Given the description of an element on the screen output the (x, y) to click on. 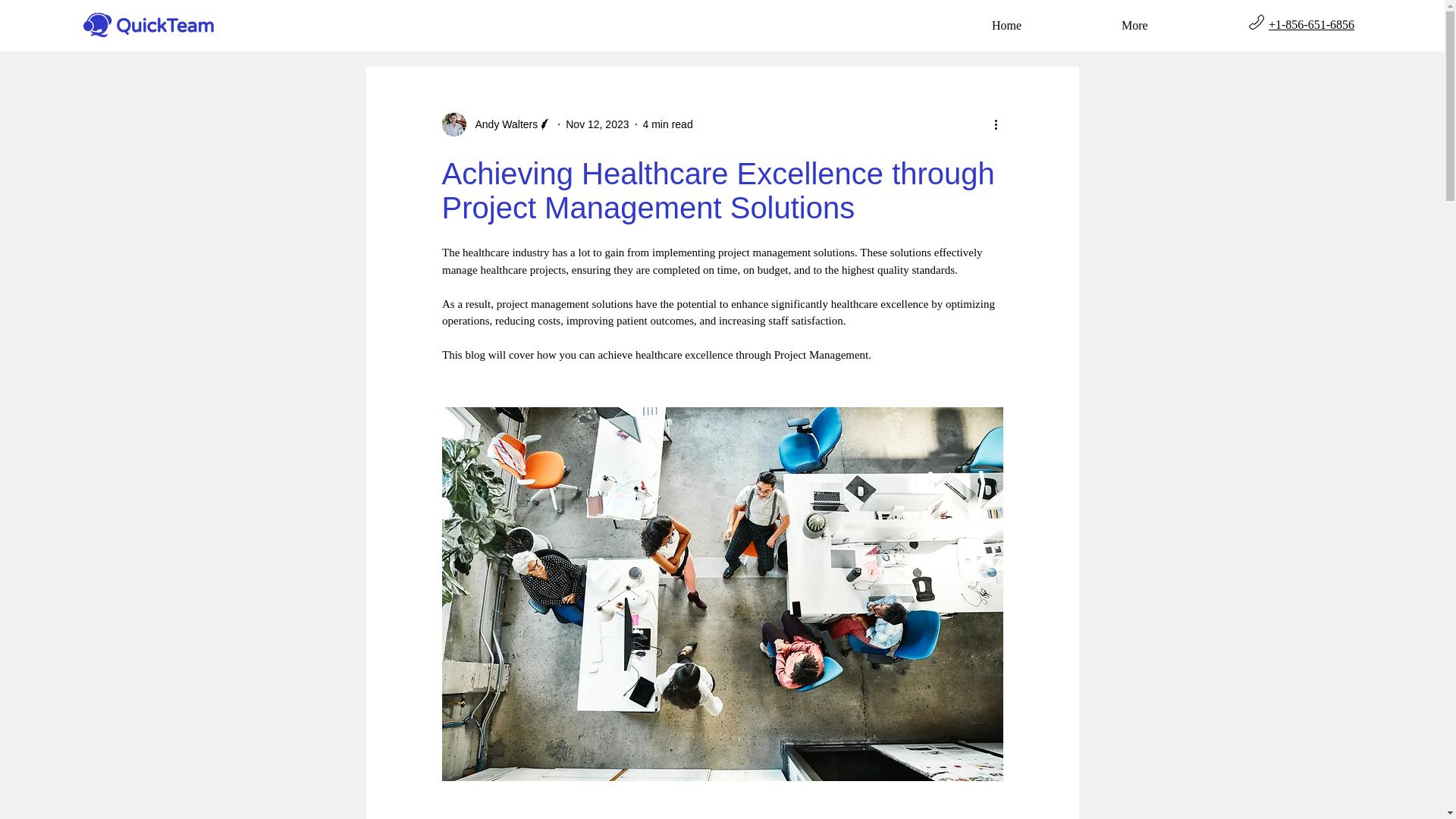
4 min read (668, 123)
Andy Walters (501, 124)
Andy Walters (496, 124)
Home (1044, 25)
Nov 12, 2023 (597, 123)
